Given the description of an element on the screen output the (x, y) to click on. 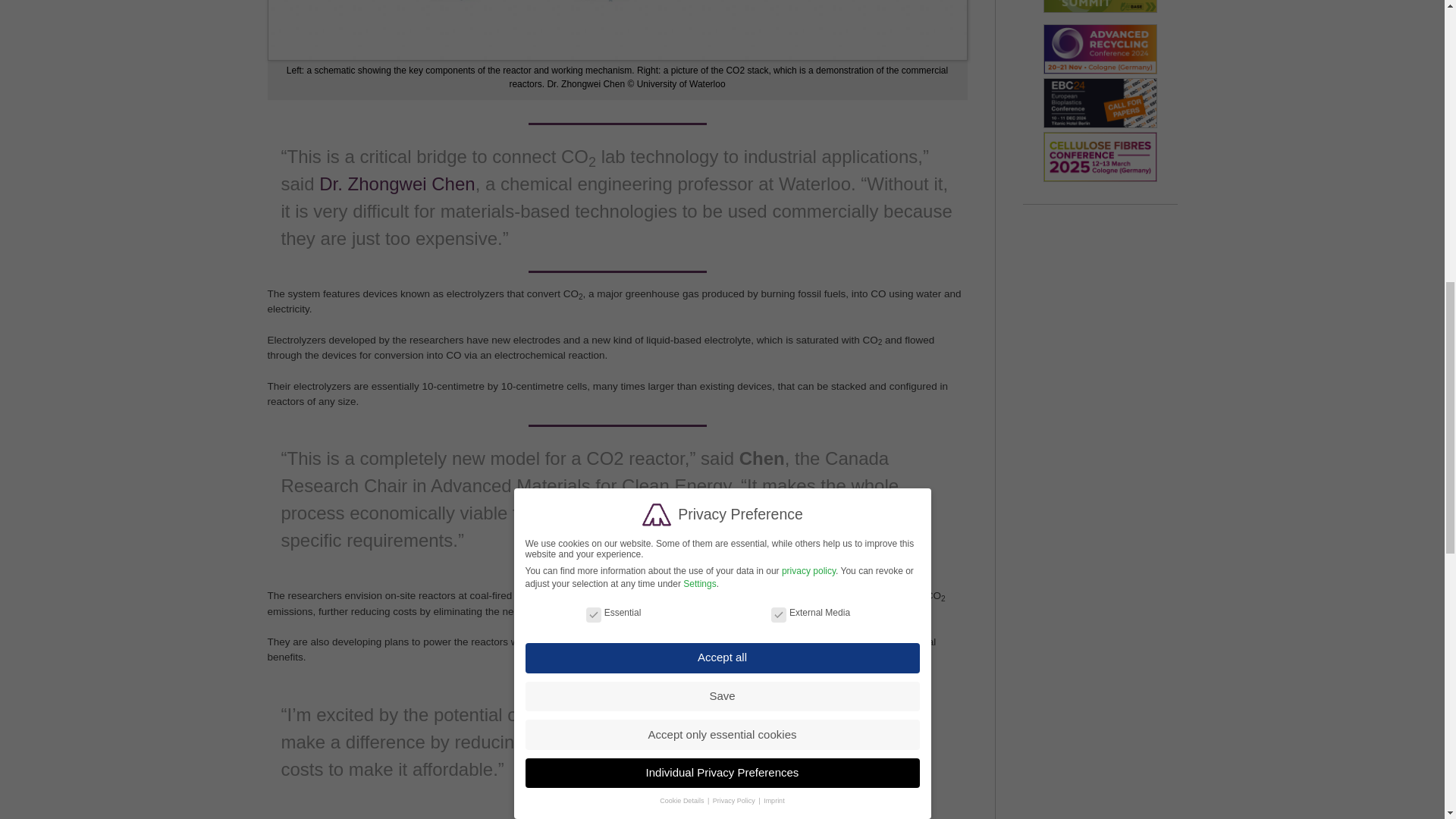
Dr. Zhongwei Chen (396, 183)
